Given the description of an element on the screen output the (x, y) to click on. 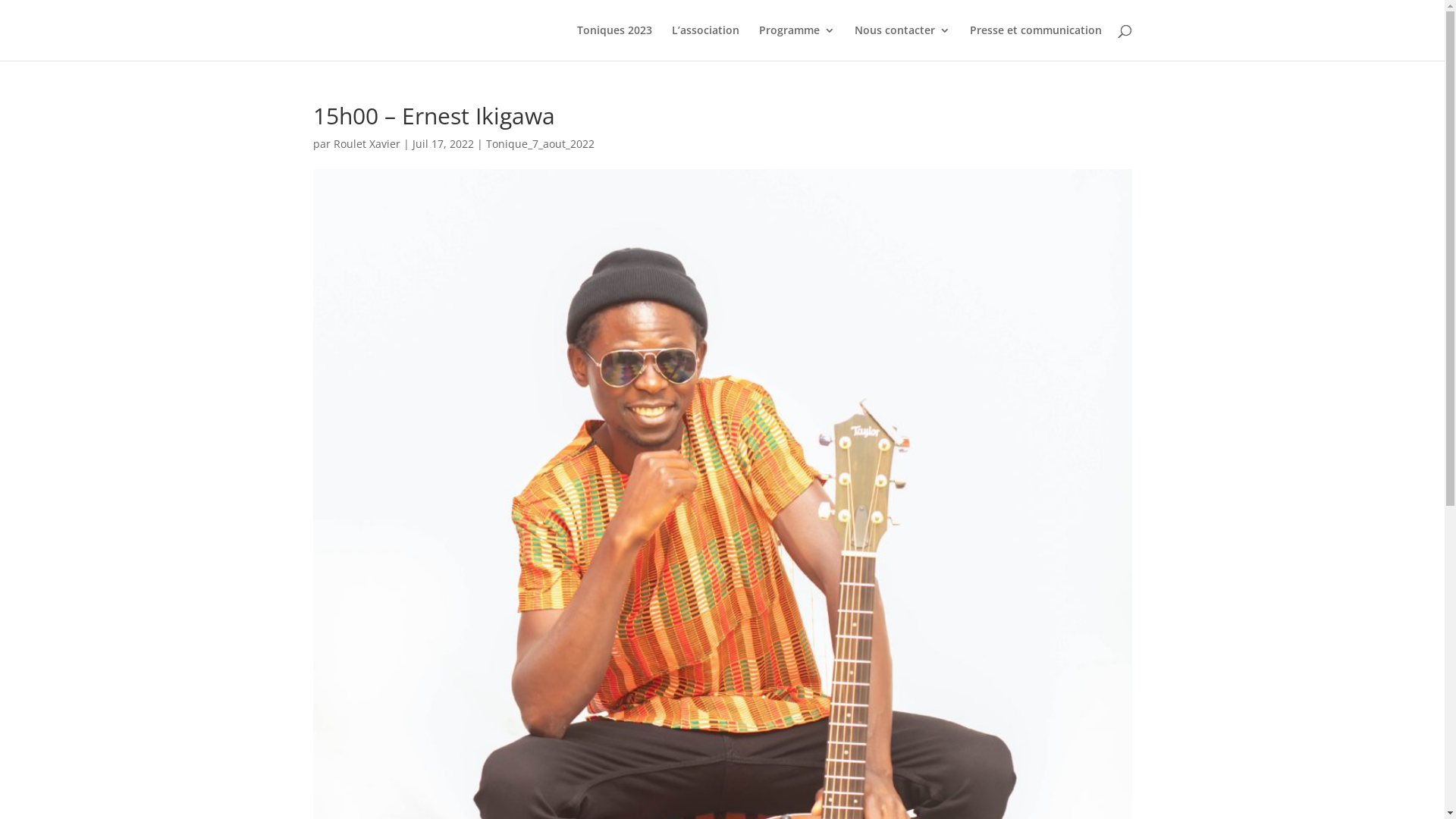
Toniques 2023 Element type: text (613, 42)
Roulet Xavier Element type: text (366, 143)
Programme Element type: text (796, 42)
Tonique_7_aout_2022 Element type: text (539, 143)
Nous contacter Element type: text (901, 42)
Presse et communication Element type: text (1035, 42)
